Given the description of an element on the screen output the (x, y) to click on. 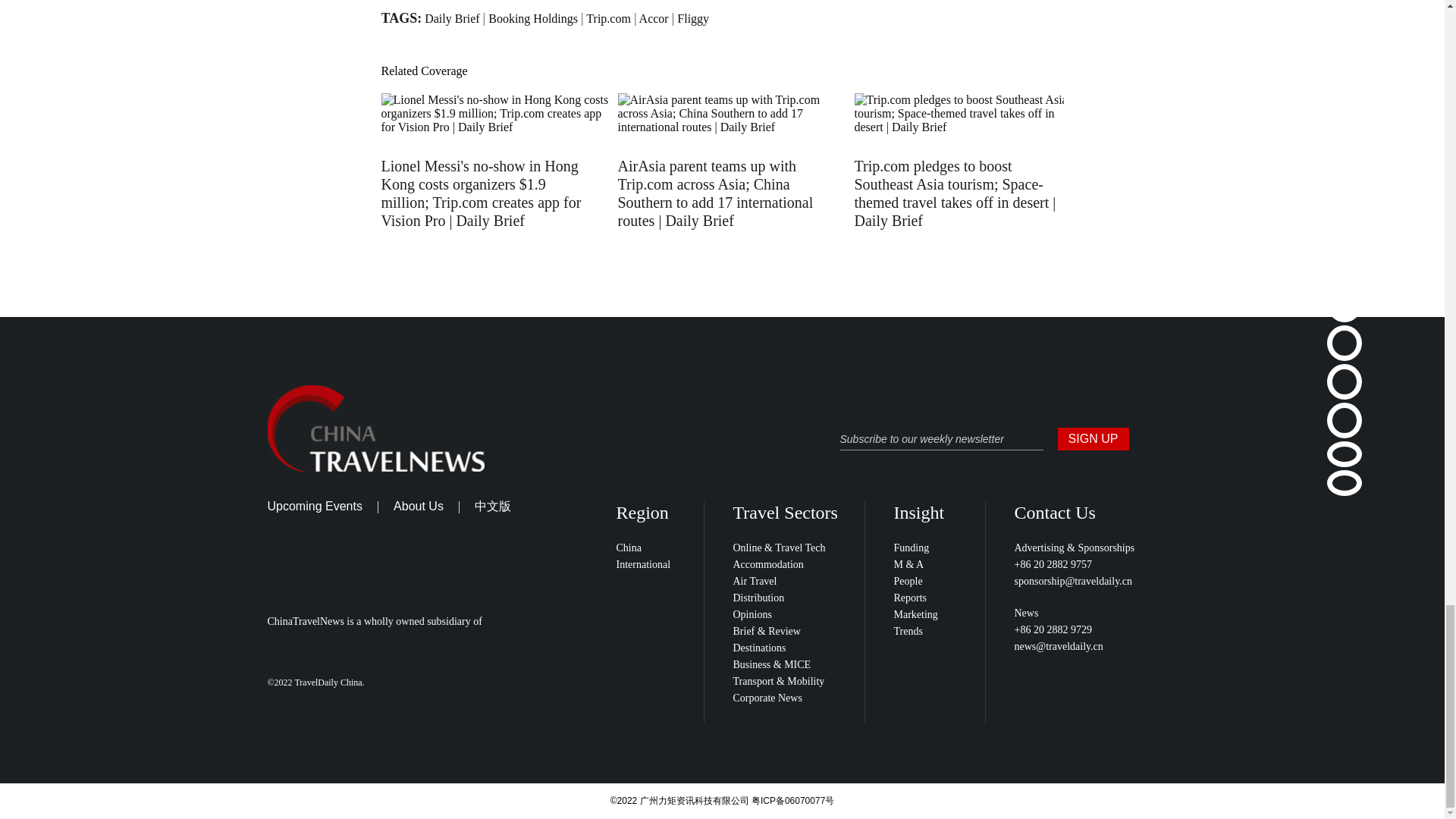
Booking Holdings (532, 18)
Daily Brief (452, 18)
Trip.com (608, 18)
SIGN UP (1092, 438)
